Given the description of an element on the screen output the (x, y) to click on. 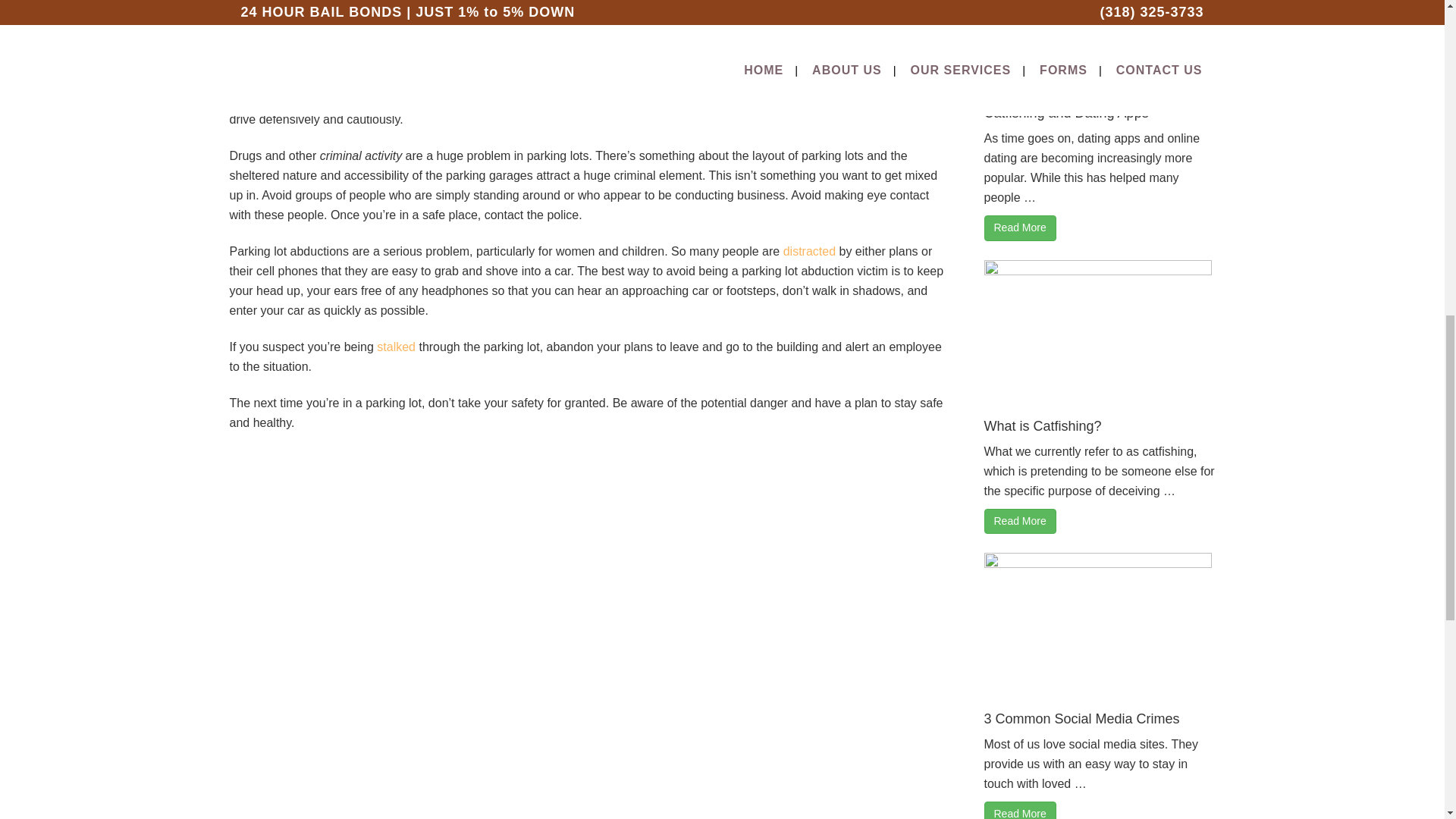
Read More (1020, 227)
Catfishing and Dating Apps (1066, 112)
stalked (395, 346)
Read More (1020, 520)
Drunk Driving on Halloween (809, 250)
distracted (809, 250)
What is Catfishing? (1043, 426)
